Given the description of an element on the screen output the (x, y) to click on. 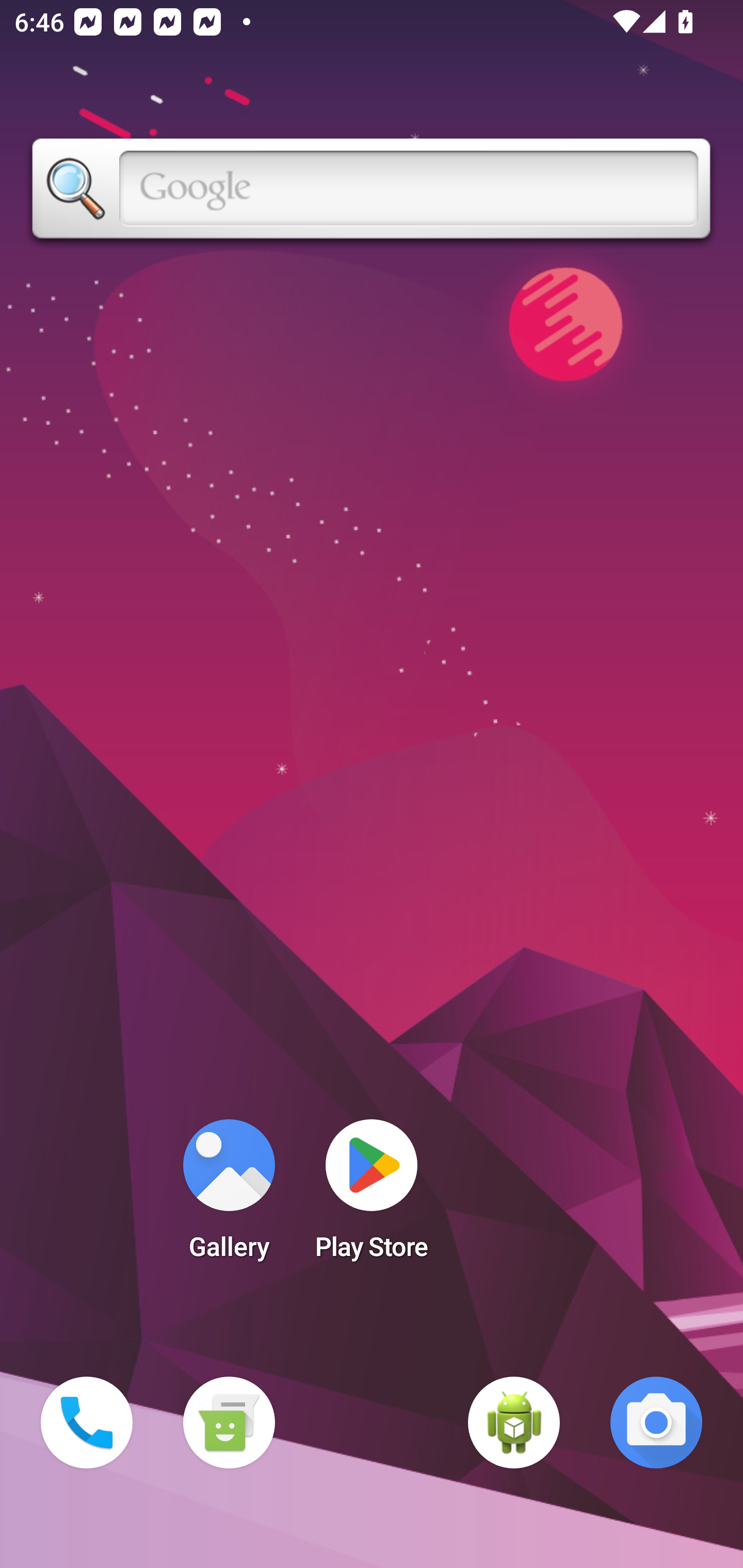
Gallery (228, 1195)
Play Store (371, 1195)
Phone (86, 1422)
Messaging (228, 1422)
WebView Browser Tester (513, 1422)
Camera (656, 1422)
